Given the description of an element on the screen output the (x, y) to click on. 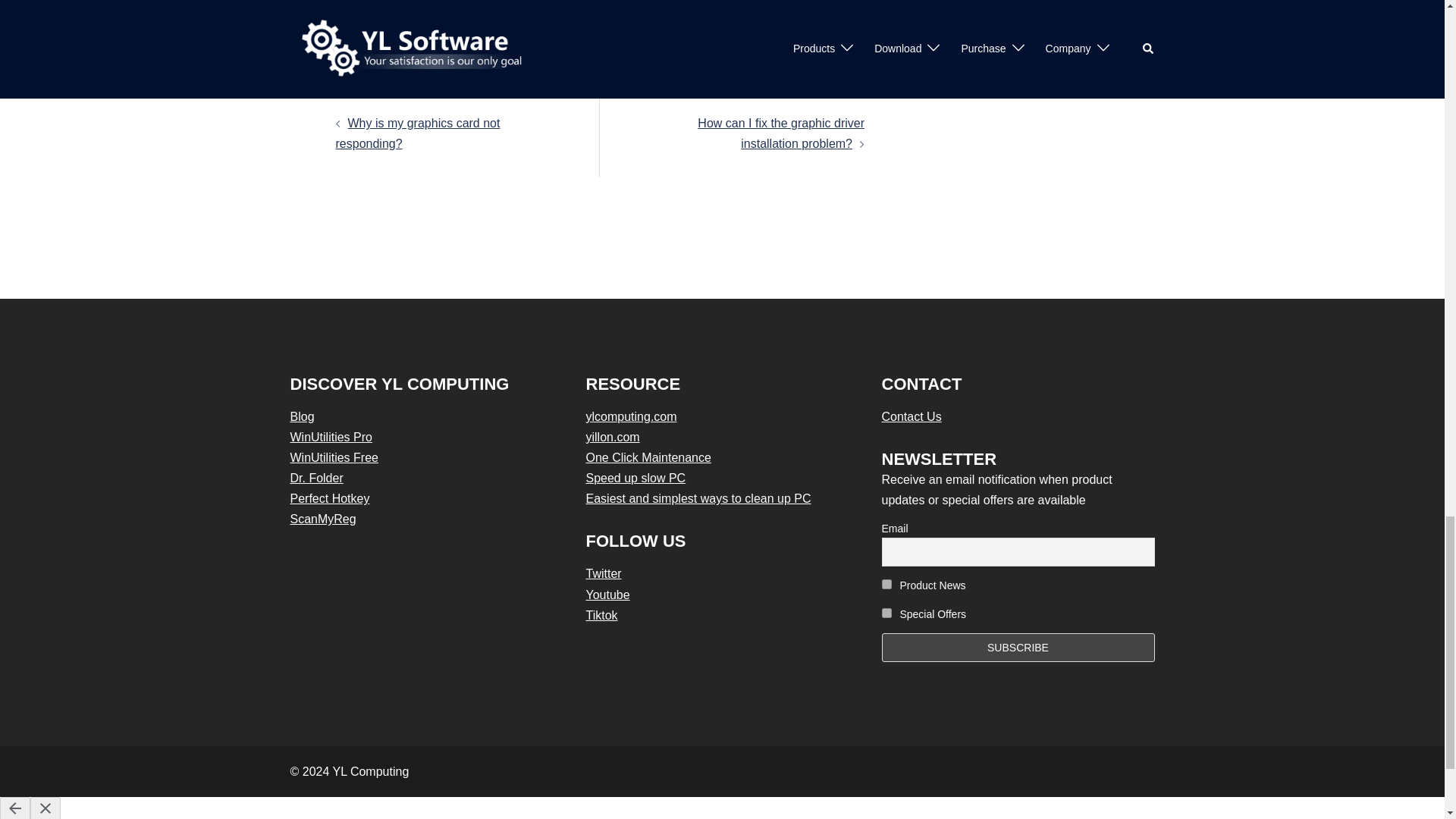
1 (885, 583)
2 (885, 613)
Subscribe (1017, 646)
